Given the description of an element on the screen output the (x, y) to click on. 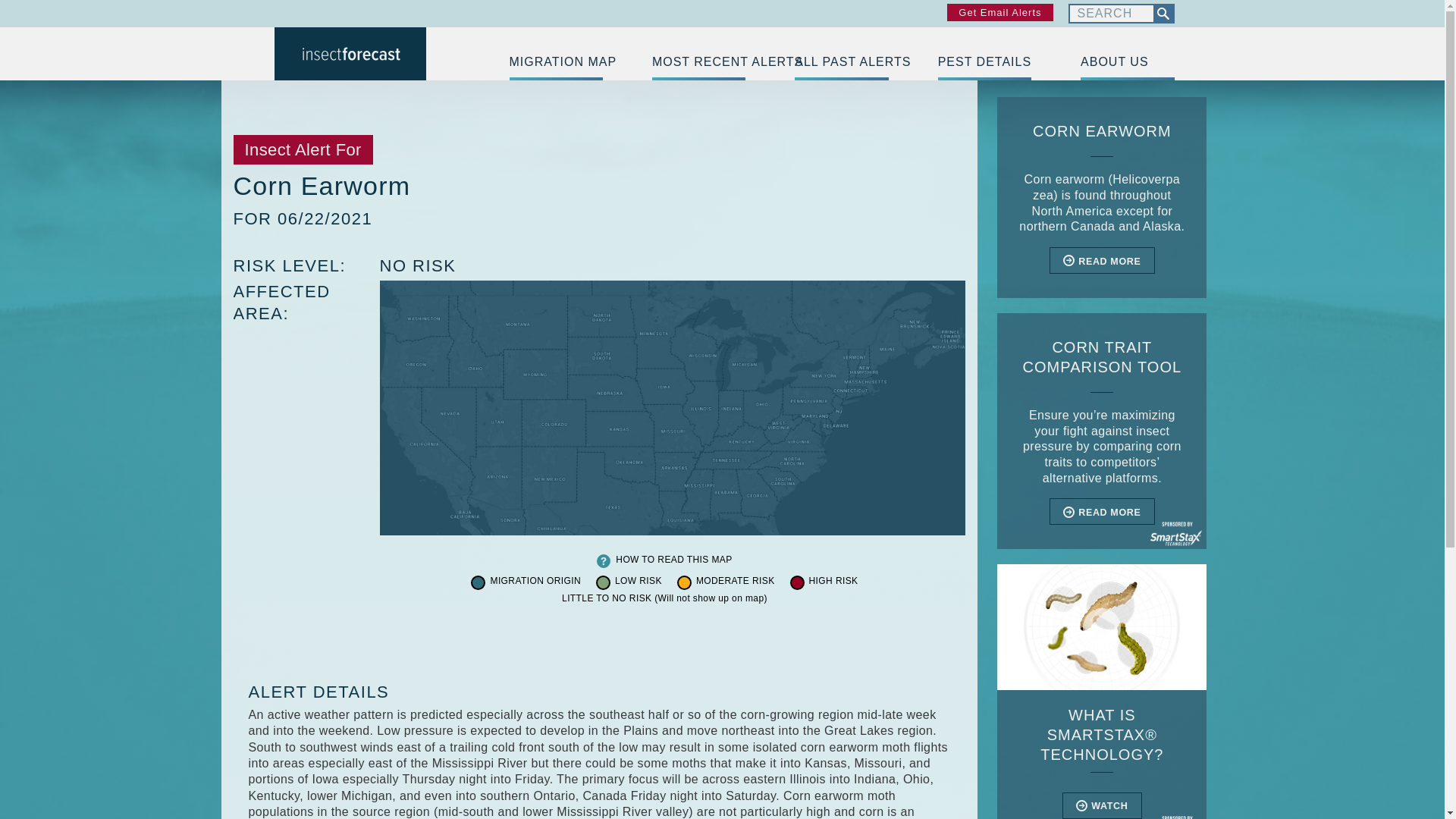
MIGRATION MAP (555, 62)
ABOUT US (1126, 62)
MODERATE RISK (734, 581)
PEST DETAILS (983, 62)
Get Email Alerts (999, 12)
MIGRATION ORIGIN (534, 581)
About Us (1126, 62)
SEARCH (1162, 13)
MOST RECENT ALERTS (698, 62)
HIGH RISK (834, 581)
ALL PAST ALERTS (841, 62)
LOW RISK (638, 581)
Corn Earworm (1102, 197)
NO RISK (416, 265)
